Given the description of an element on the screen output the (x, y) to click on. 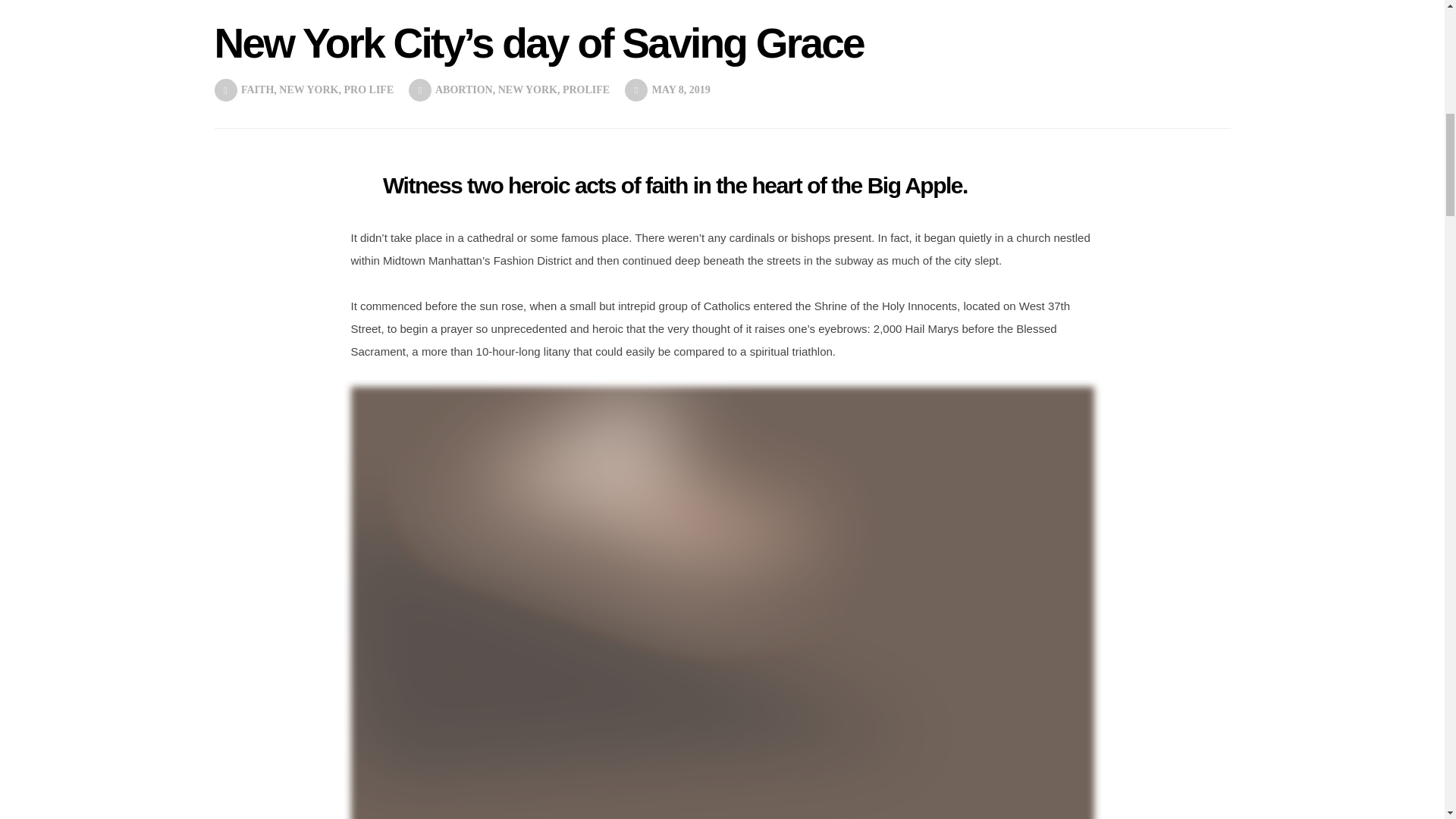
NEW YORK (308, 89)
ABORTION (464, 89)
PROLIFE (586, 89)
NEW YORK (527, 89)
FAITH (257, 89)
PRO LIFE (368, 89)
